Given the description of an element on the screen output the (x, y) to click on. 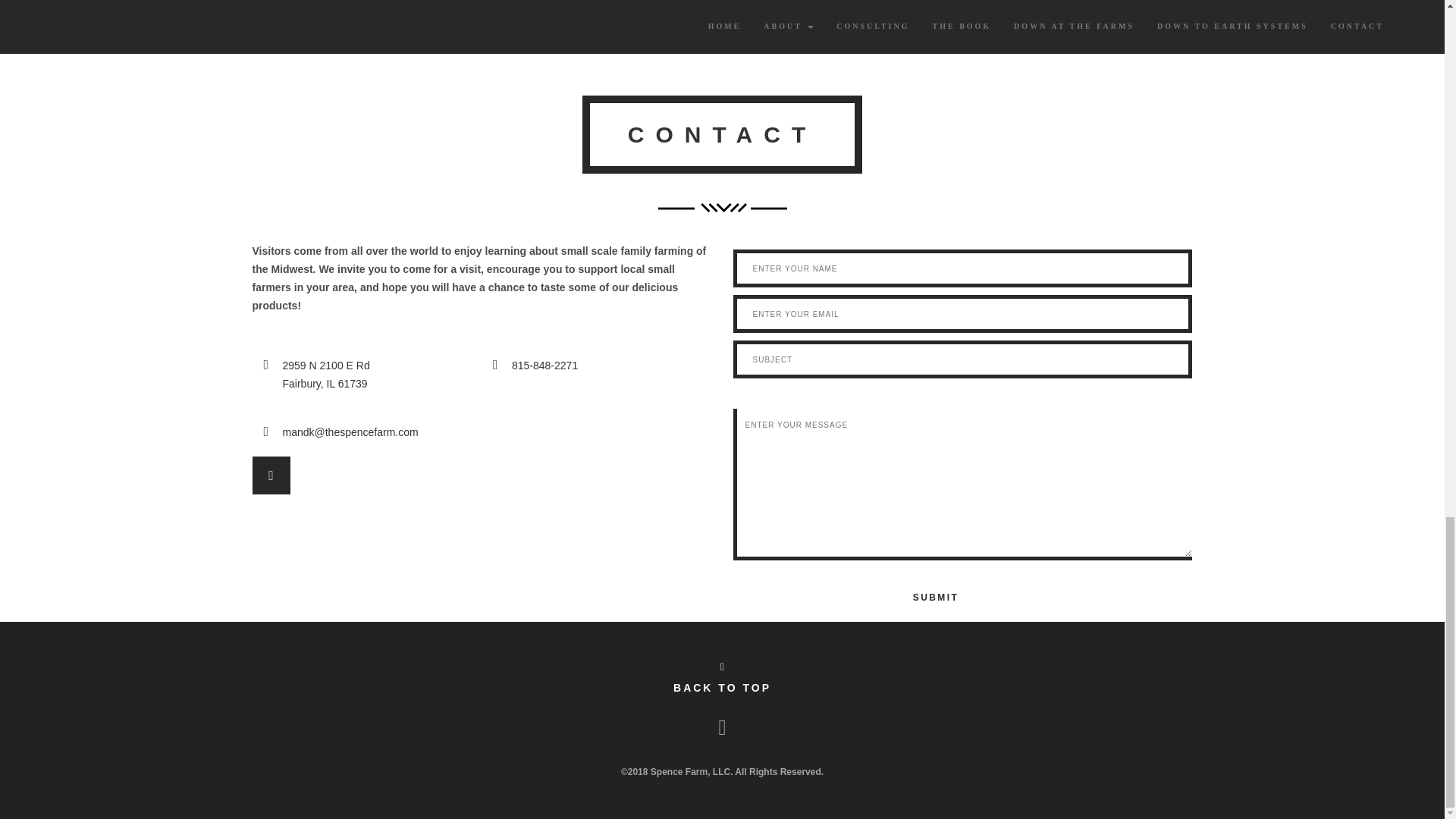
BACK TO TOP (721, 676)
SUBMIT (935, 597)
SUBMIT (935, 597)
